Given the description of an element on the screen output the (x, y) to click on. 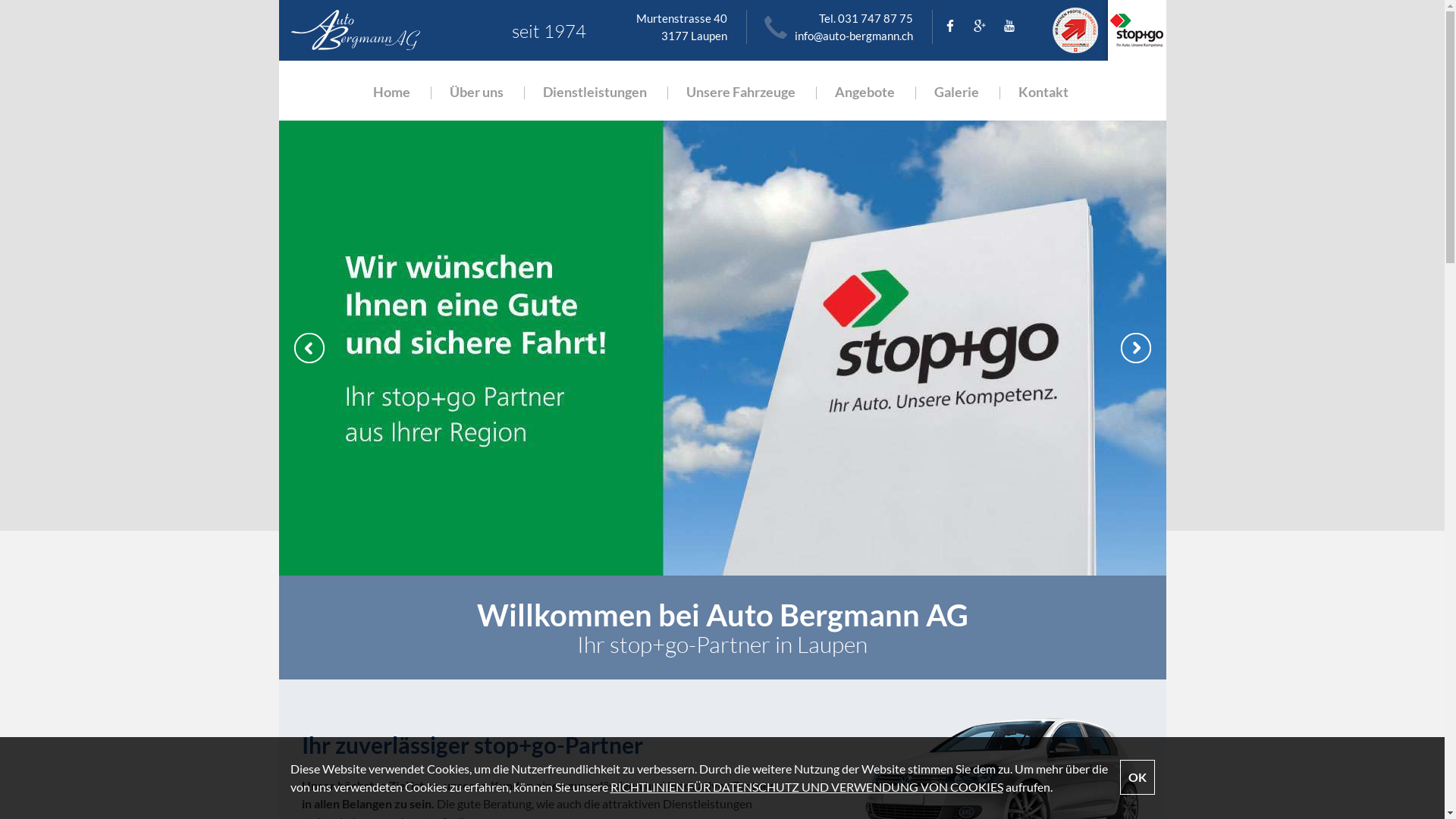
Unsere Fahrzeuge Element type: text (740, 90)
Kontakt Element type: text (1043, 90)
info@auto-bergmann.ch Element type: text (853, 35)
OK Element type: text (1136, 776)
Home Element type: text (391, 90)
Next Element type: text (1135, 347)
Galerie Element type: text (956, 90)
Previous Element type: text (309, 347)
Dienstleistungen Element type: text (594, 90)
Angebote Element type: text (864, 90)
Auto Bergmann AG Element type: text (389, 29)
